Given the description of an element on the screen output the (x, y) to click on. 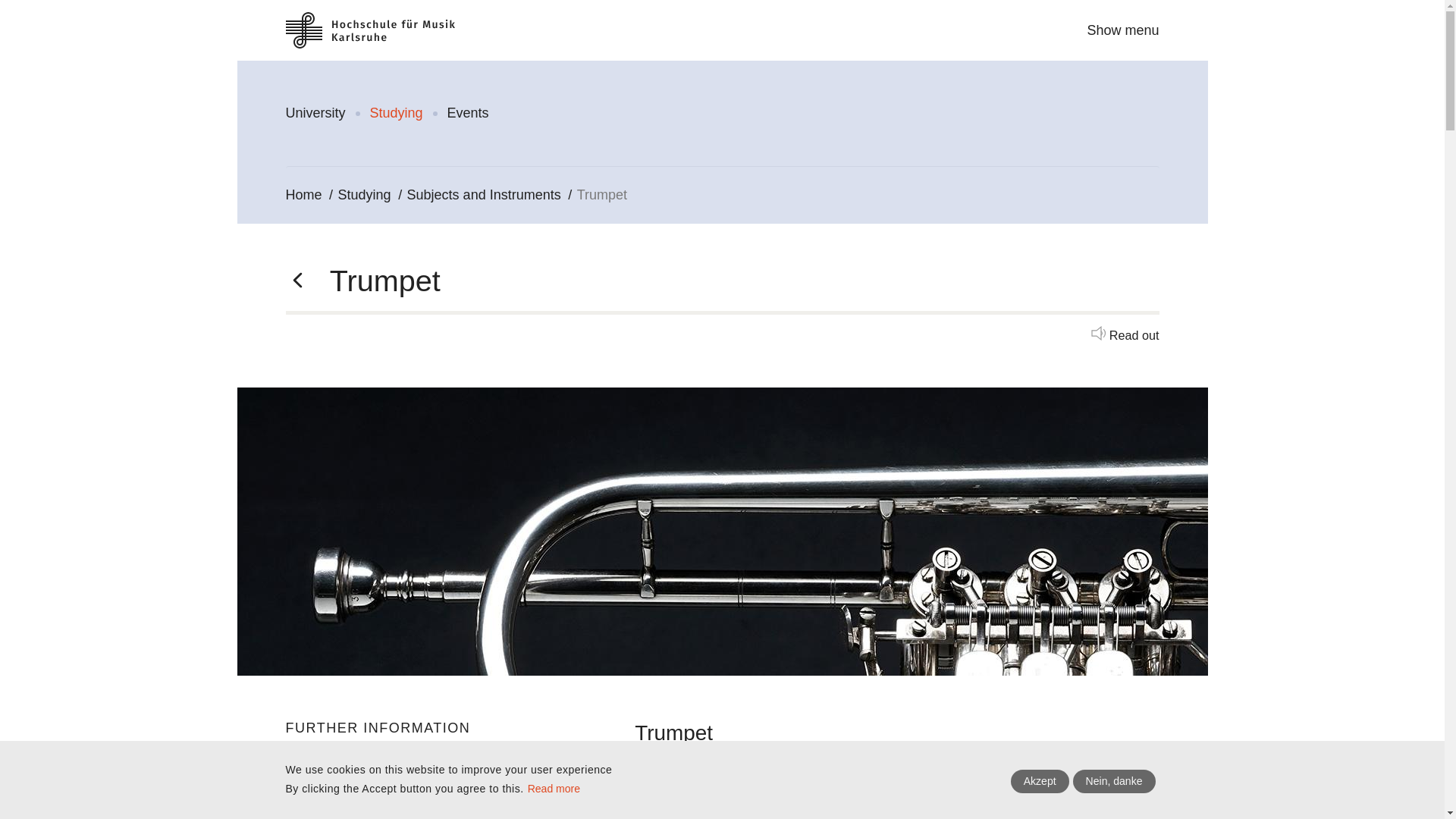
Show menu (1122, 29)
Home (383, 30)
